Given the description of an element on the screen output the (x, y) to click on. 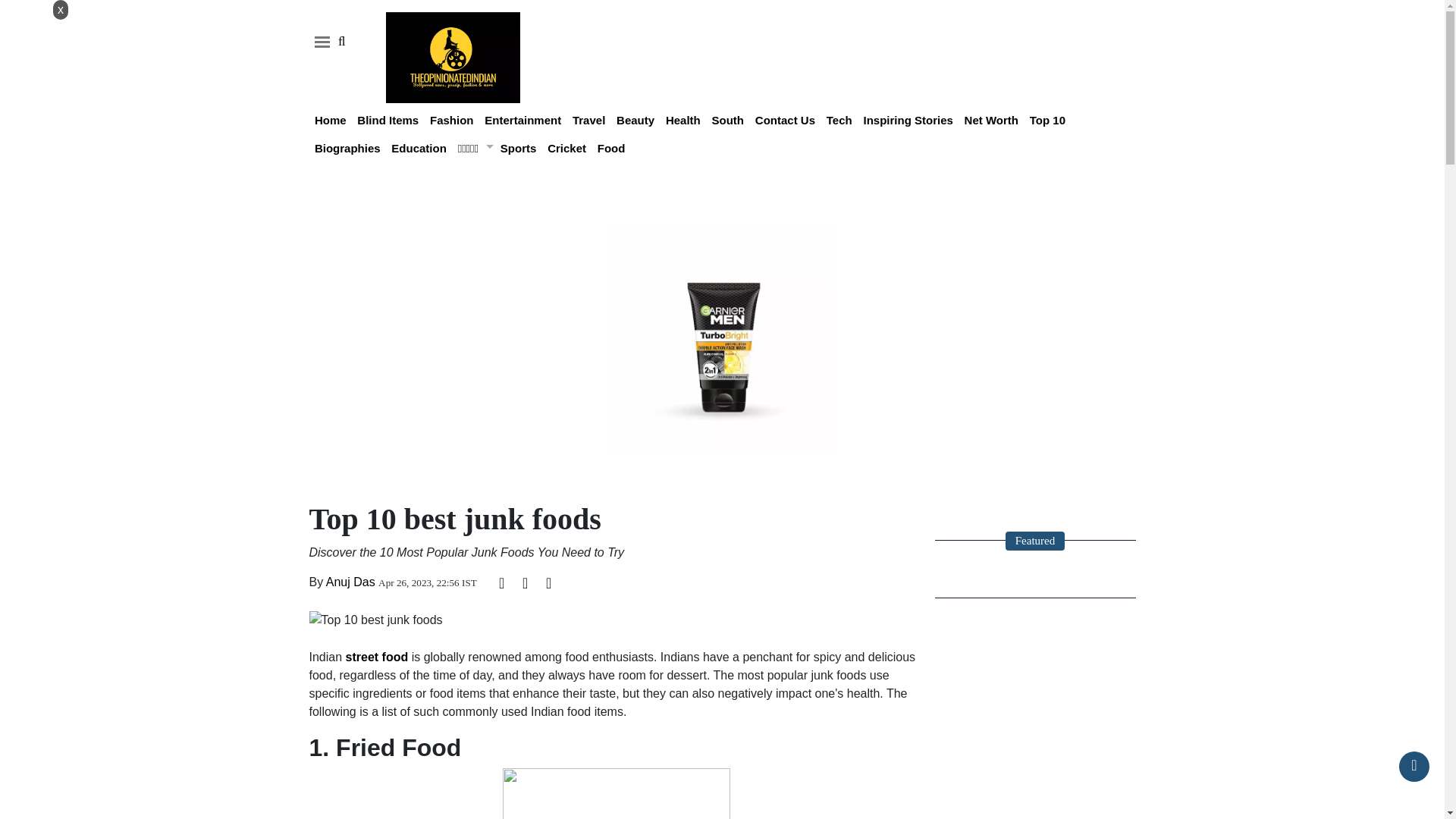
Top 10 (1047, 119)
Beauty (634, 119)
Inspiring Stories (907, 119)
Entertainment (522, 119)
Travel (588, 119)
Fashion (451, 119)
Blind Items (387, 119)
Biographies (347, 147)
Health (682, 119)
South (727, 119)
